Given the description of an element on the screen output the (x, y) to click on. 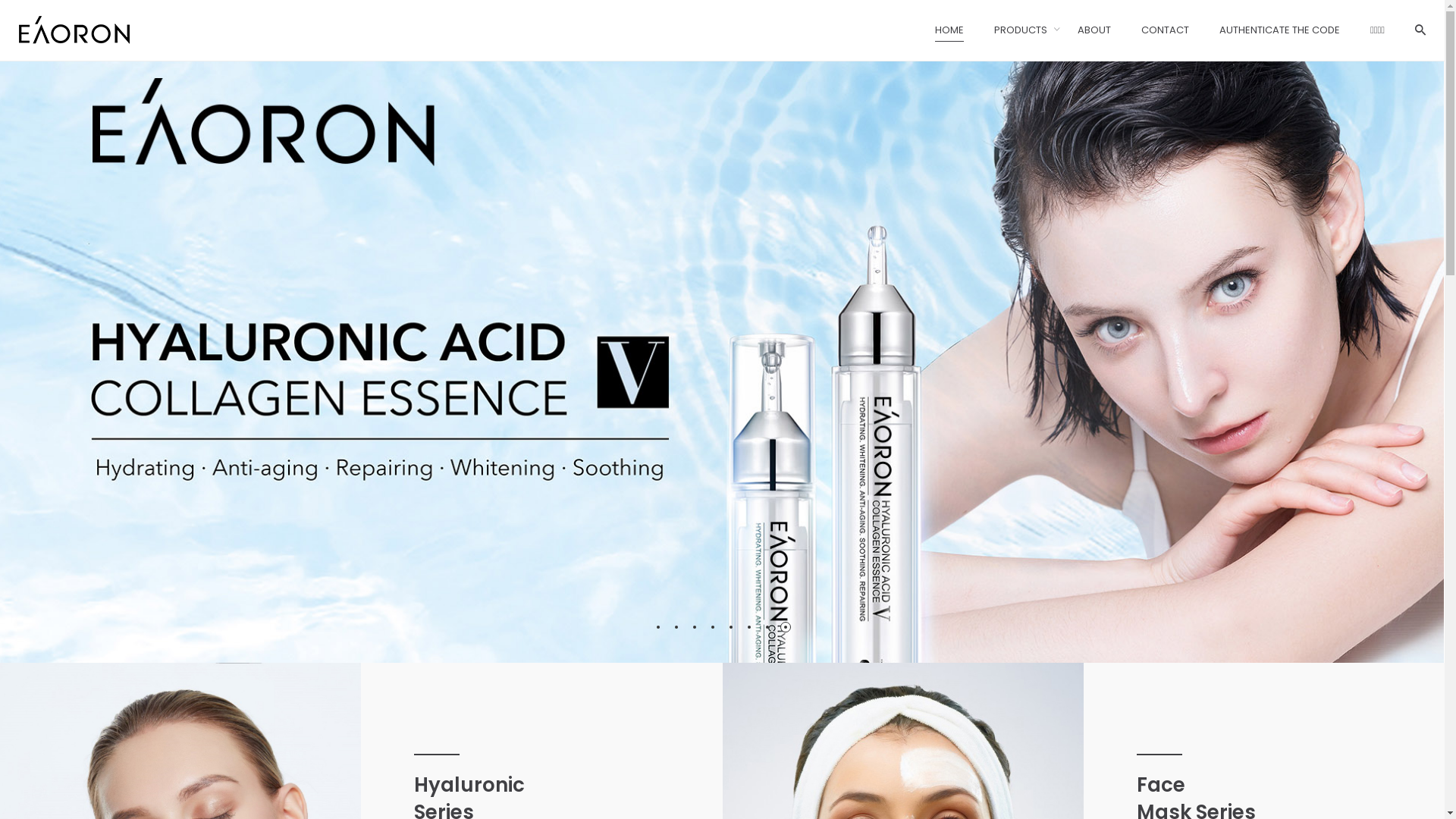
PRODUCTS Element type: text (1020, 29)
ABOUT Element type: text (1094, 29)
CONTACT Element type: text (1165, 29)
PRODUCTS Element type: text (761, 576)
AUTHENTICATE THE CODE Element type: text (1279, 29)
ABOUT Element type: text (751, 630)
CONTACT Element type: text (757, 655)
HOME Element type: text (748, 551)
HOME Element type: text (949, 29)
AUTHENTICATE THE CODE Element type: text (797, 681)
EAORON Element type: text (764, 605)
Skip to content Element type: text (0, 0)
